Given the description of an element on the screen output the (x, y) to click on. 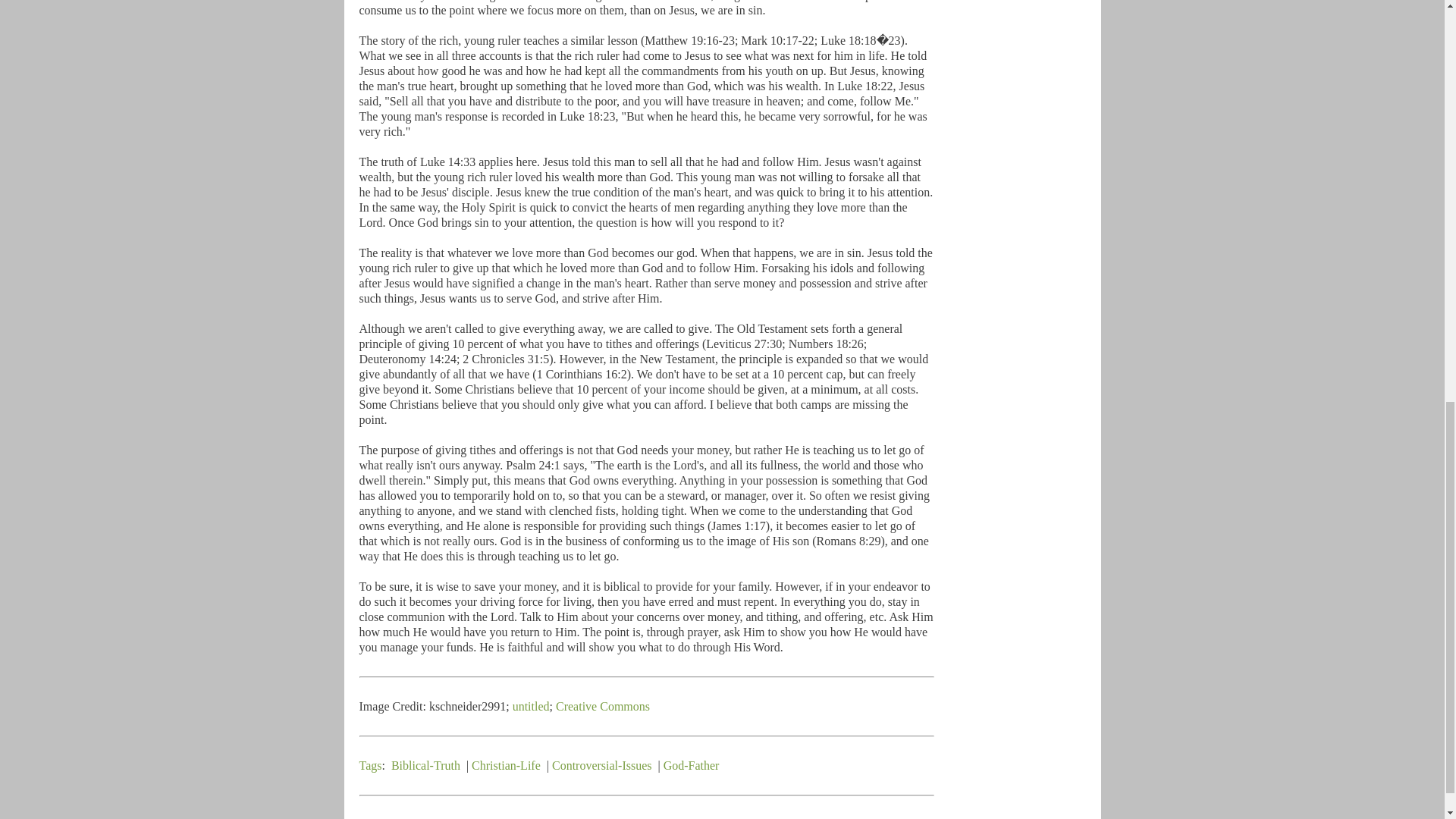
Creative Commons (602, 706)
untitled (531, 706)
Tags (370, 765)
Christian-Life (505, 765)
God-Father (691, 765)
Biblical-Truth (425, 765)
Controversial-Issues (601, 765)
